Given the description of an element on the screen output the (x, y) to click on. 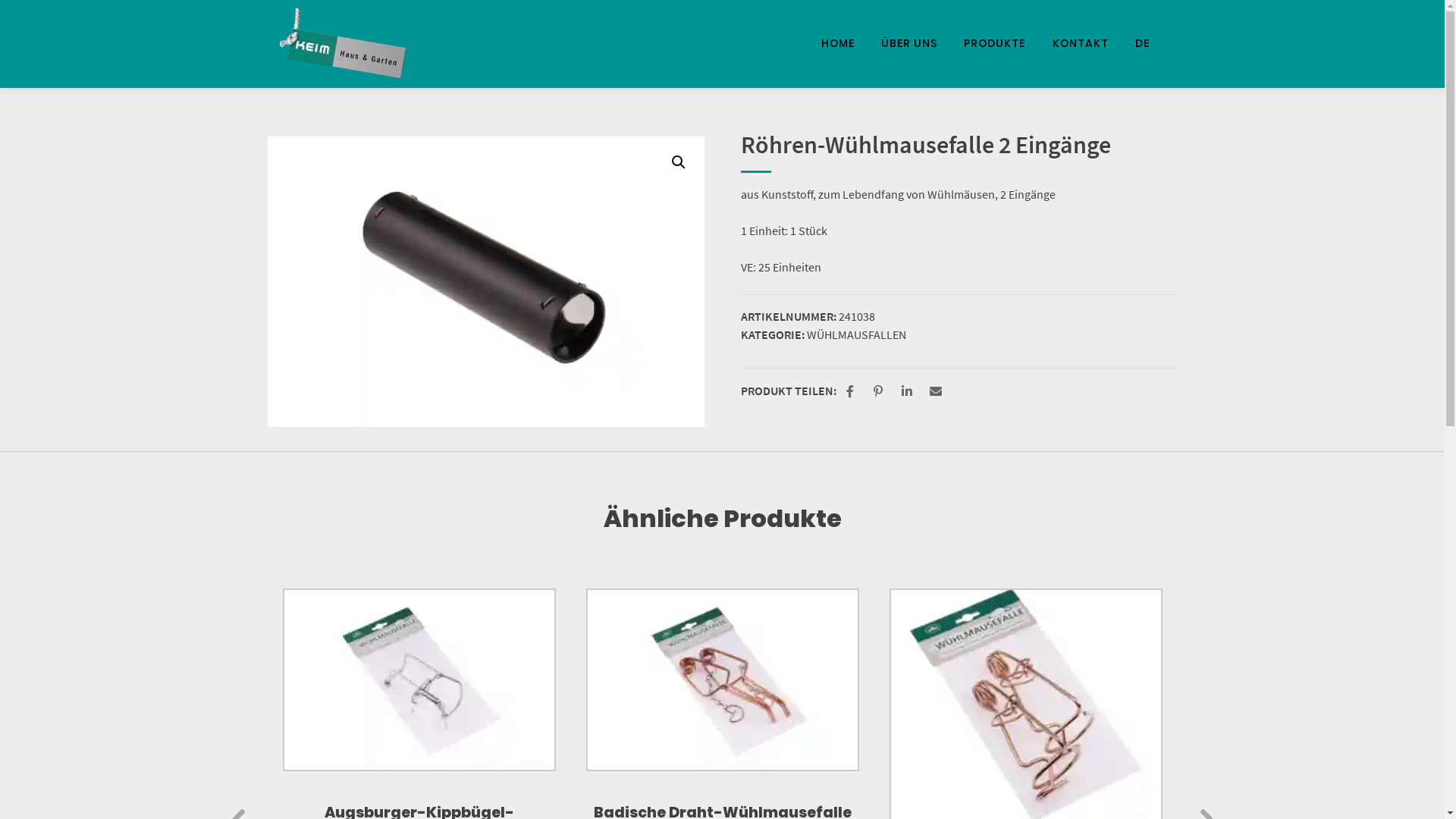
DE Element type: text (1142, 43)
PRODUKTE Element type: text (994, 43)
SONY DSC Element type: hover (484, 281)
Bei Pinterest pinnen Element type: hover (879, 391)
HOME Element type: text (837, 43)
Bei Facebook teilen Element type: hover (851, 391)
Per E-Mail versenden Element type: hover (937, 391)
Bei LinkedIn teilen Element type: hover (908, 391)
KONTAKT Element type: text (1080, 43)
